Given the description of an element on the screen output the (x, y) to click on. 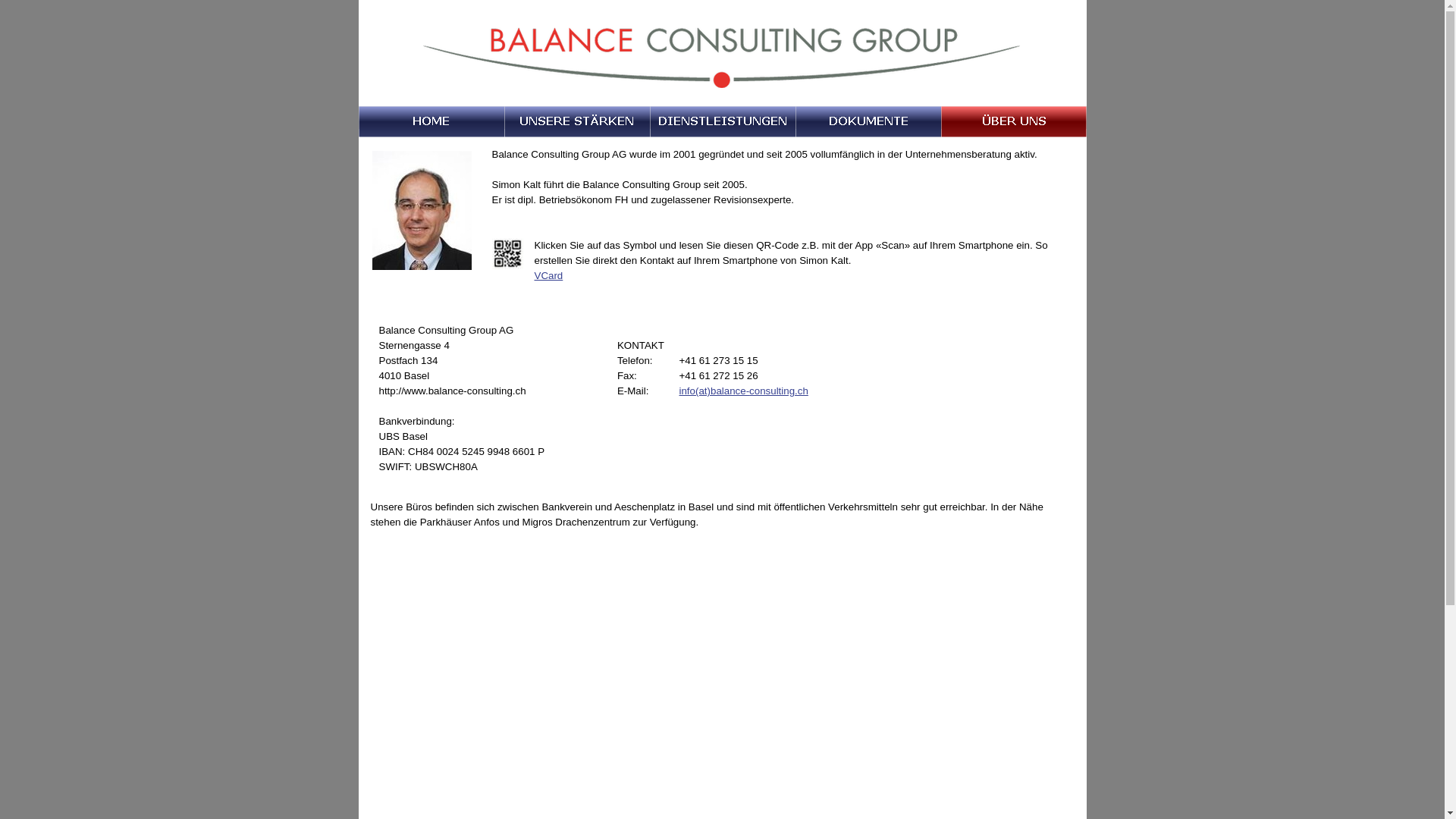
VCard Element type: text (547, 275)
info(at)balance-consulting.ch Element type: text (742, 390)
